Given the description of an element on the screen output the (x, y) to click on. 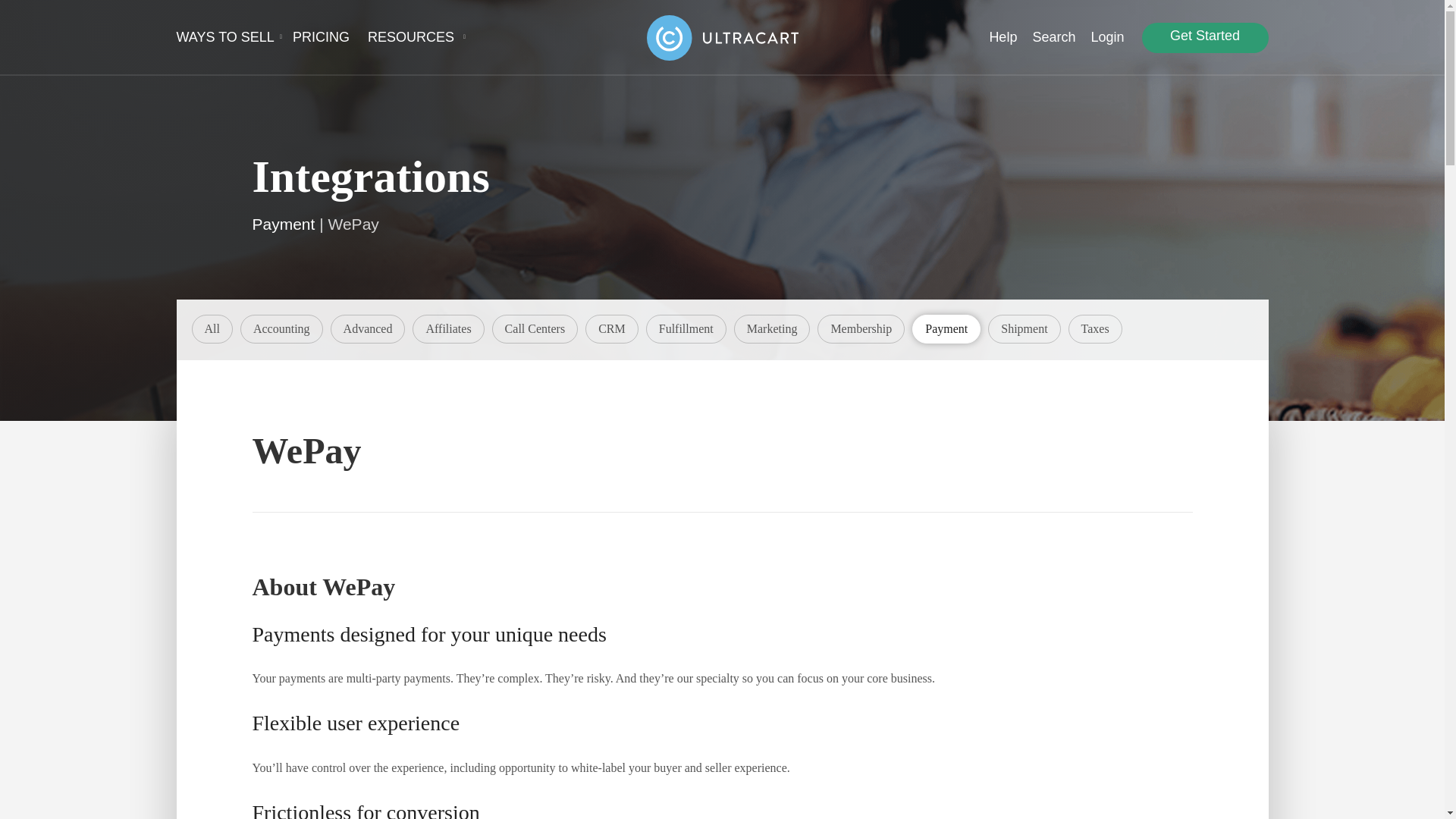
Payment (946, 328)
Call Centers (535, 328)
UltraCart Integrations (212, 328)
Marketing (771, 328)
Fulfillment (686, 328)
Call Centers (535, 328)
Advanced (368, 328)
RESOURCES (412, 37)
Search (1054, 37)
Search (1054, 37)
